Given the description of an element on the screen output the (x, y) to click on. 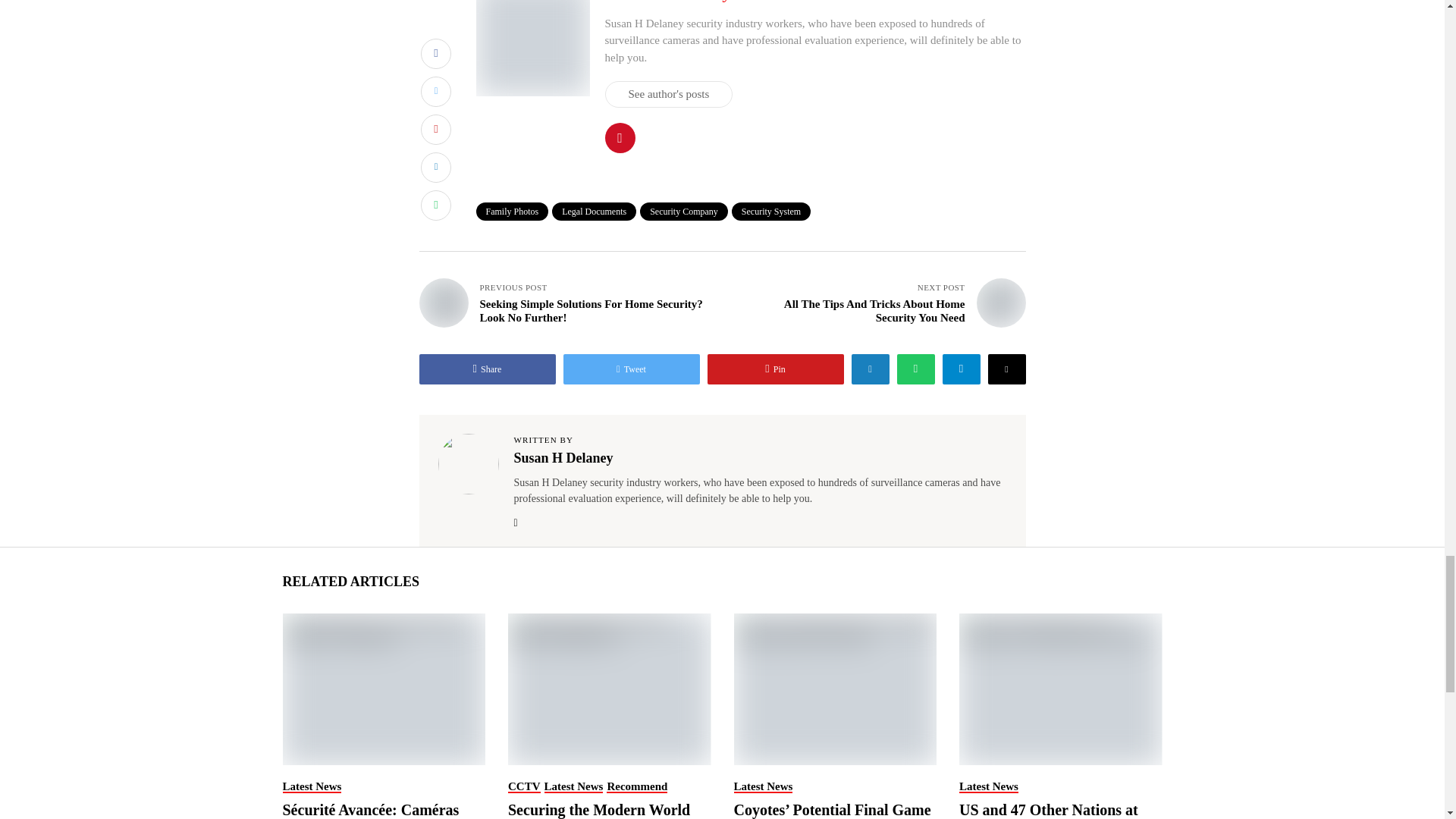
Securing the Modern World with DAHUA WizMind Tech (608, 688)
Seeking Simple Solutions For Home Security? Look No Further! (443, 302)
All The Tips And Tricks About Home Security You Need (1001, 302)
